Given the description of an element on the screen output the (x, y) to click on. 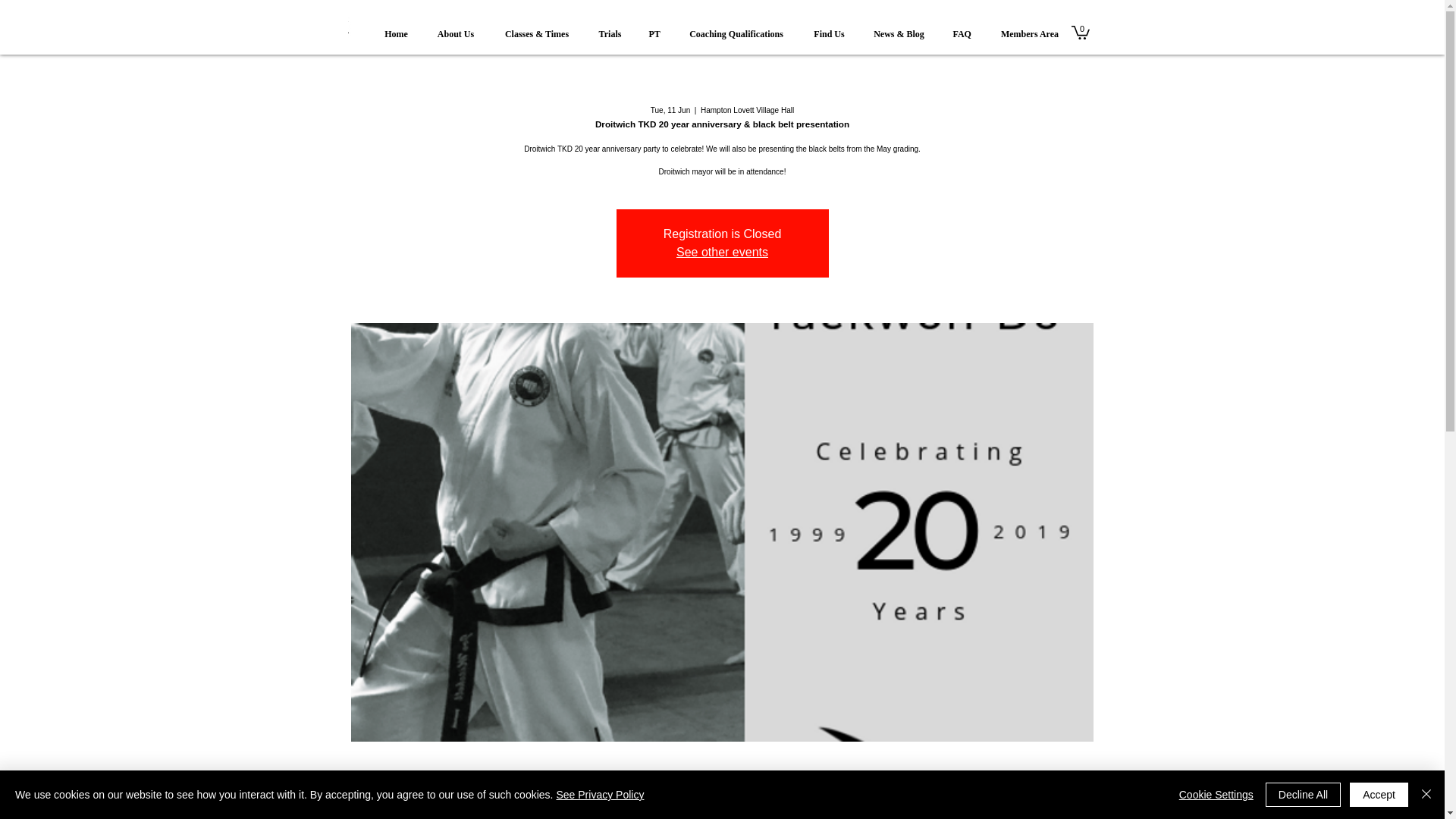
See other events (722, 251)
Decline All (1302, 794)
Coaching Qualifications (735, 27)
About Us (456, 27)
PT (653, 27)
Home (396, 27)
FAQ (961, 27)
Find Us (829, 27)
0 (1079, 31)
See Privacy Policy (599, 794)
0 (1079, 31)
Trials (609, 27)
Members Area (1029, 27)
Accept (1378, 794)
